Given the description of an element on the screen output the (x, y) to click on. 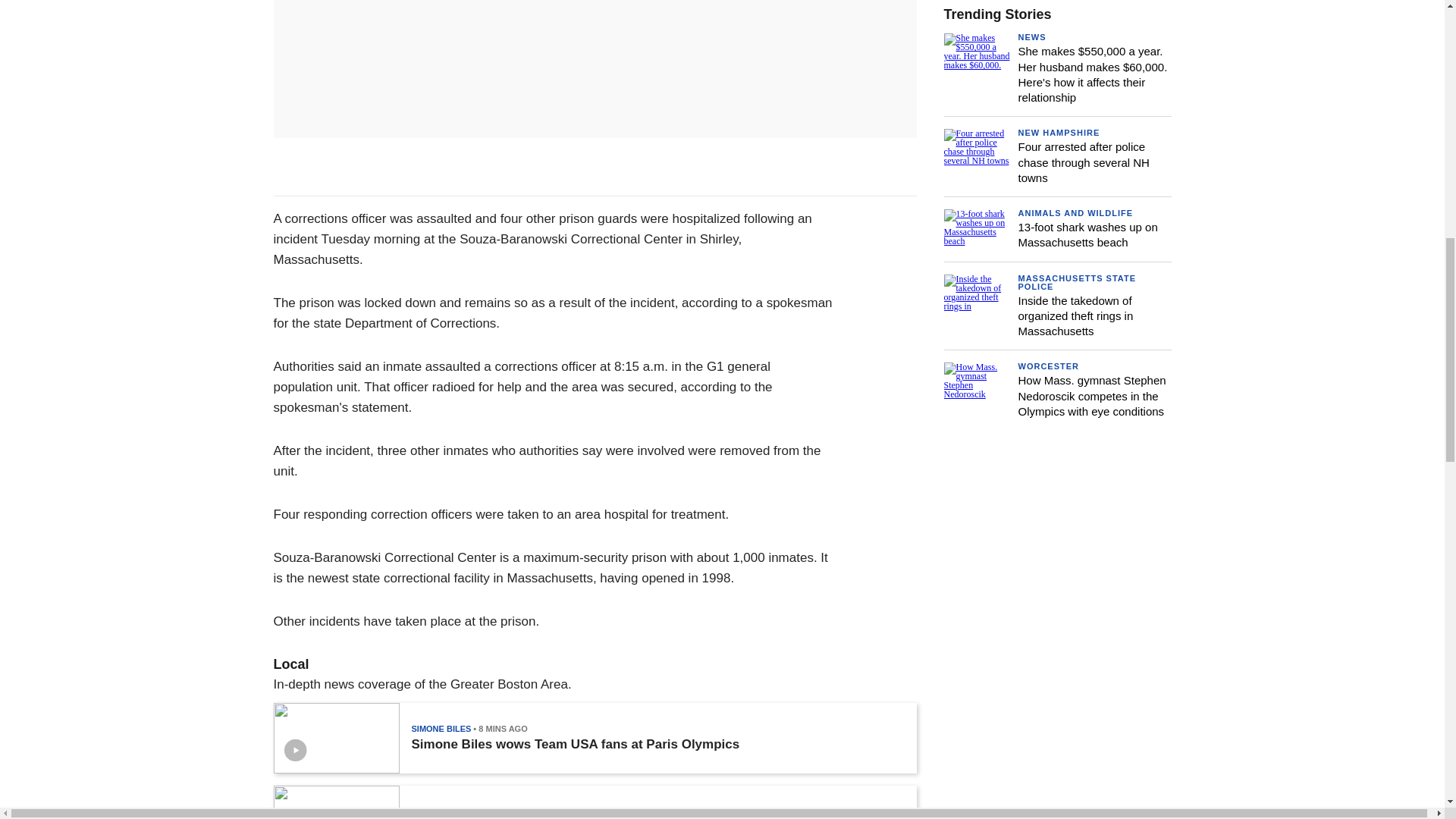
Simone Biles wows Team USA fans at Paris Olympics (574, 744)
RUSSIA (426, 810)
SIMONE BILES (440, 728)
